Given the description of an element on the screen output the (x, y) to click on. 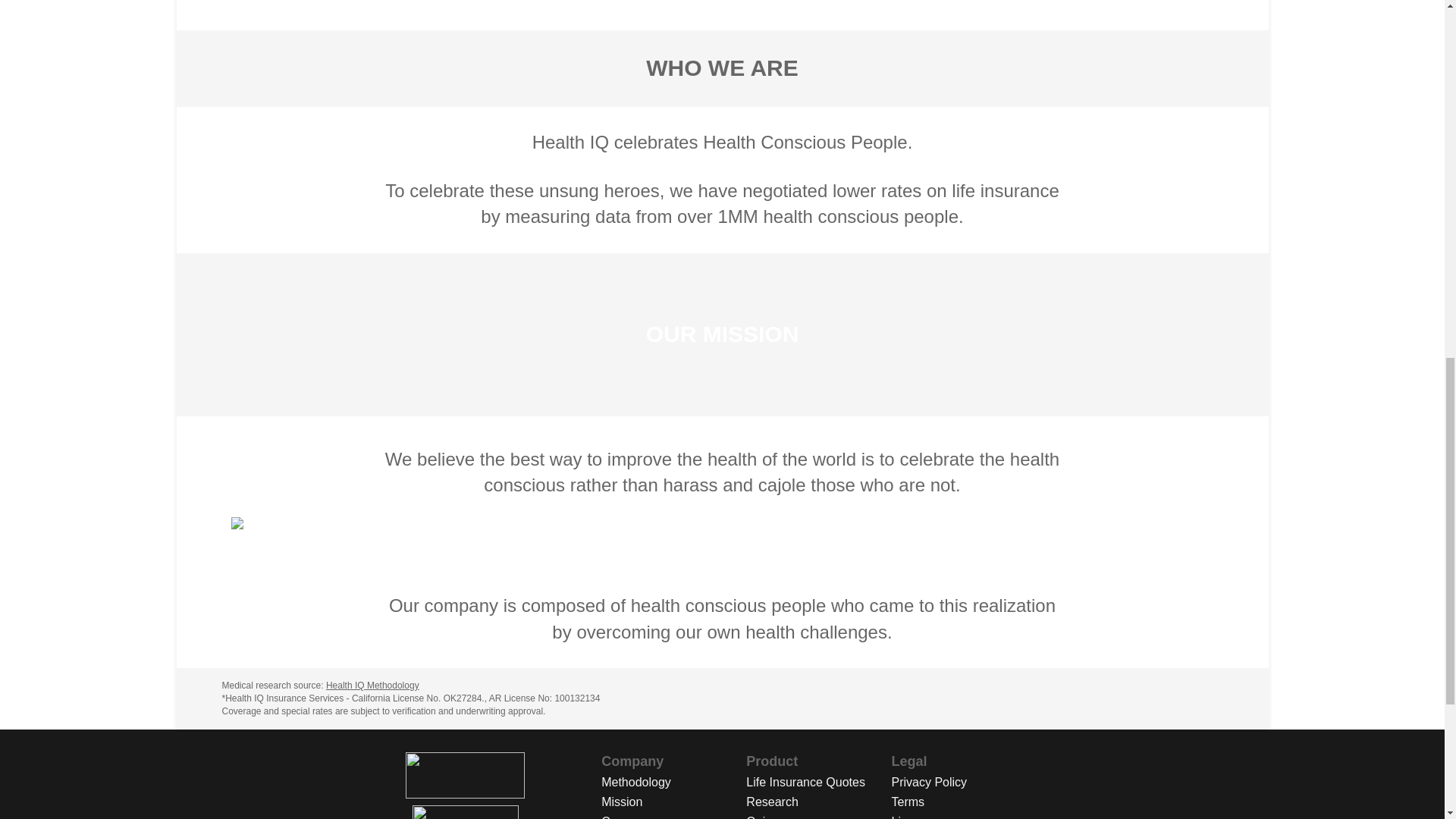
Terms (963, 802)
Research (818, 802)
Privacy Policy (963, 782)
Methodology (673, 782)
Quiz (818, 816)
Health IQ Methodology (372, 685)
Life Insurance Quotes (818, 782)
Careers (673, 816)
Mission (673, 802)
